Given the description of an element on the screen output the (x, y) to click on. 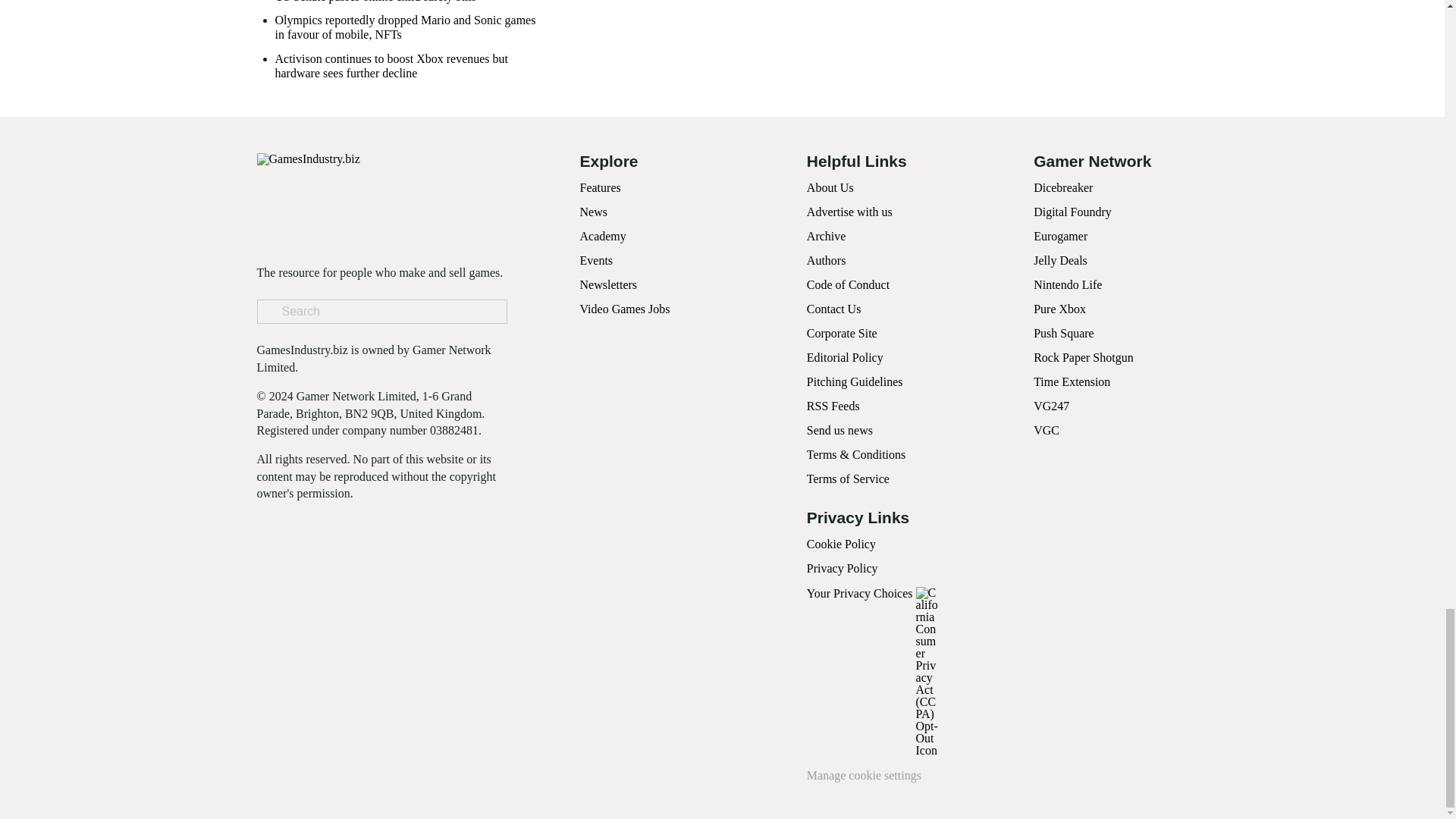
About Us (829, 187)
Video Games Jobs (624, 308)
US Senate passes online child safety bills (375, 2)
Advertise with us (849, 211)
News (593, 211)
Academy (602, 236)
Archive (825, 236)
Features (599, 187)
Events (595, 259)
Newsletters (608, 284)
